Given the description of an element on the screen output the (x, y) to click on. 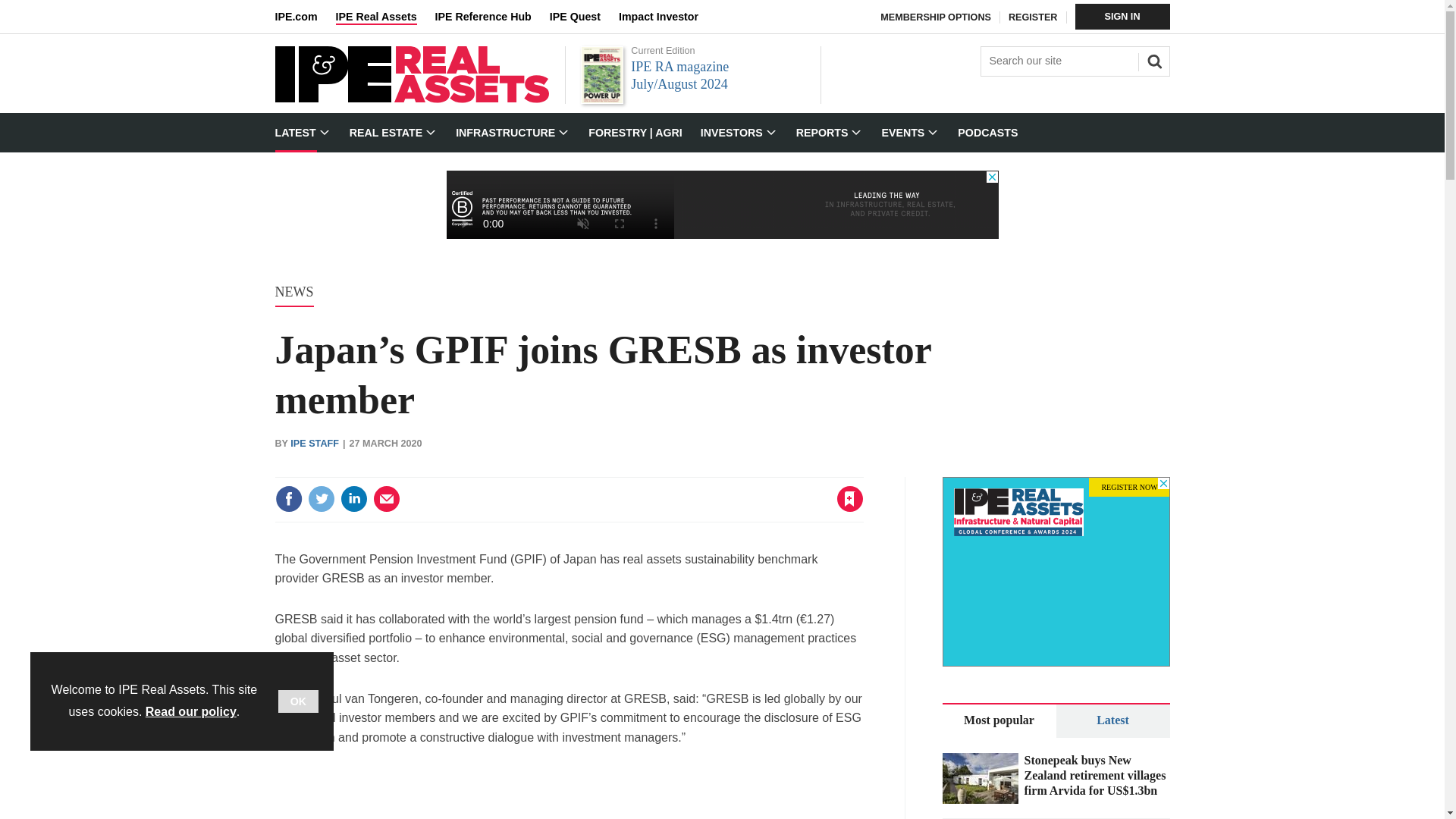
Email this article (386, 498)
Share this on Facebook (288, 498)
IPE Reference Hub (491, 16)
IPE Quest (583, 16)
3rd party ad content (568, 794)
SIGN IN (1122, 16)
Real Assets (411, 98)
3rd party ad content (1055, 571)
Impact Investor (667, 16)
IPE Quest (583, 16)
Impact Investor (667, 16)
OK (298, 701)
Read our policy (190, 711)
IPE Reference Hub (491, 16)
IPE.com (304, 16)
